Given the description of an element on the screen output the (x, y) to click on. 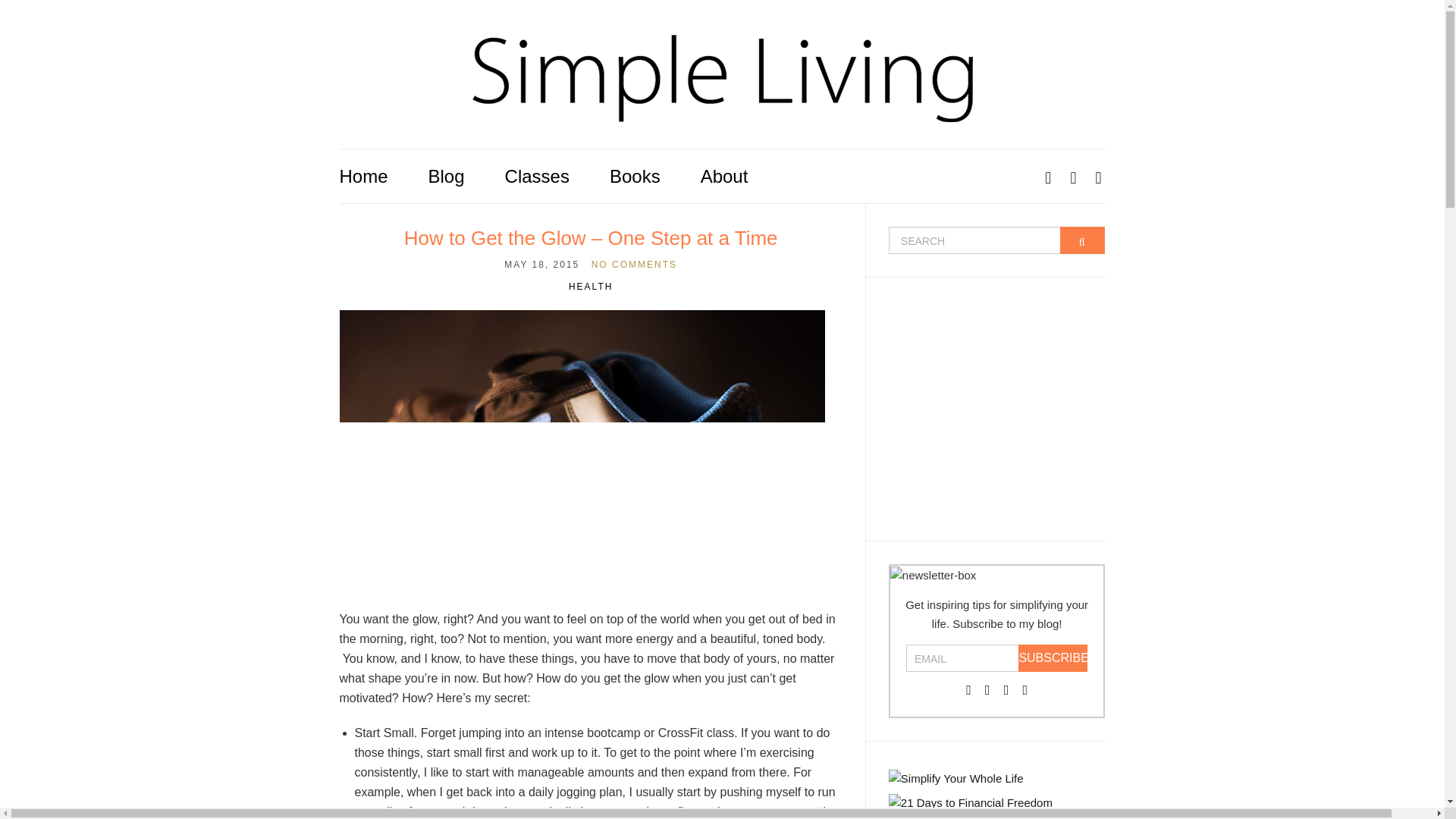
NO COMMENTS (634, 264)
About (724, 175)
Blog (446, 175)
HEALTH (590, 287)
Books (635, 175)
Classes (537, 175)
Subscribe (1052, 657)
Home (363, 175)
